Given the description of an element on the screen output the (x, y) to click on. 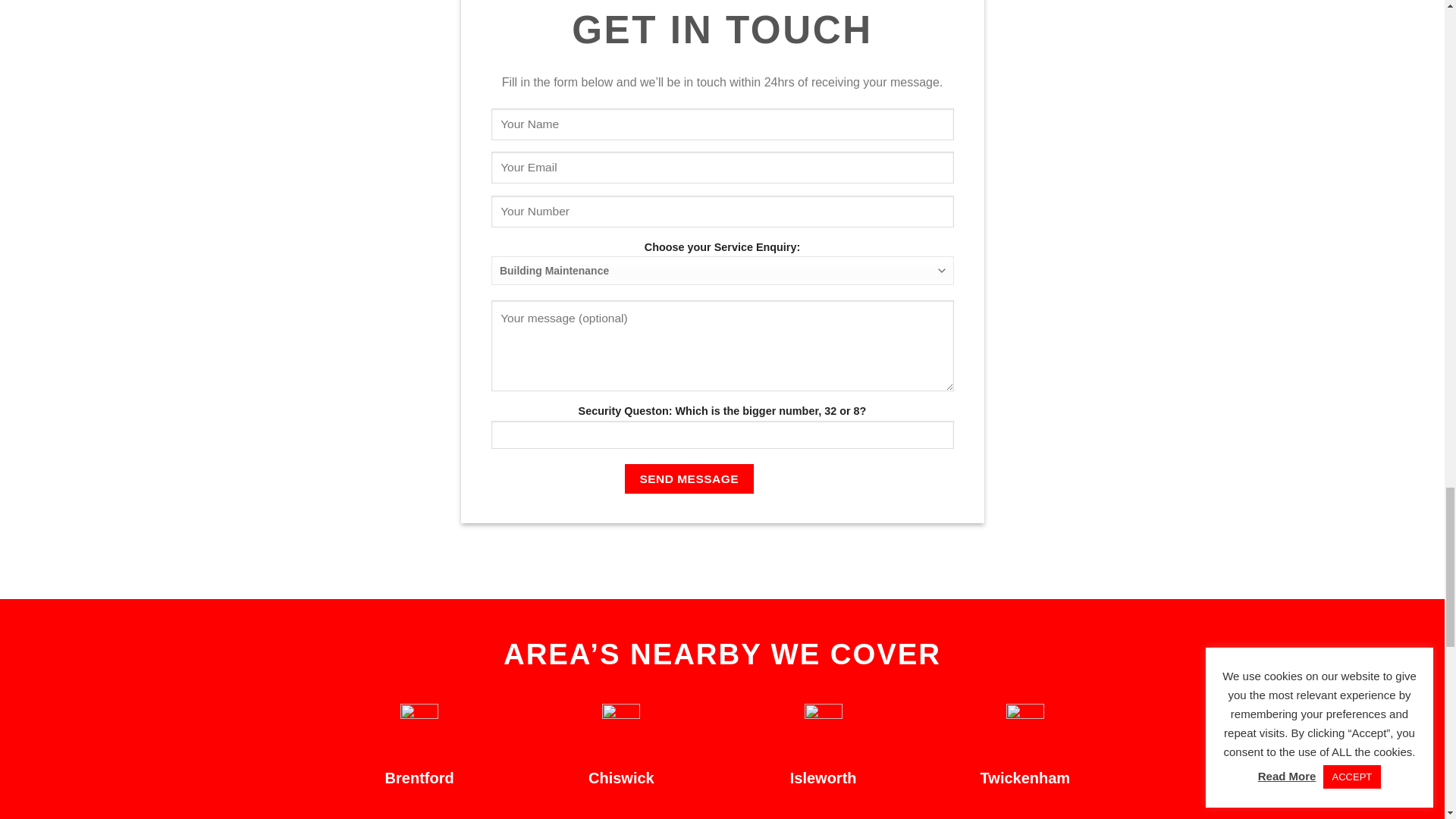
Send Message (689, 478)
Brentford (419, 777)
Chiswick (620, 777)
Send Message (689, 478)
